Given the description of an element on the screen output the (x, y) to click on. 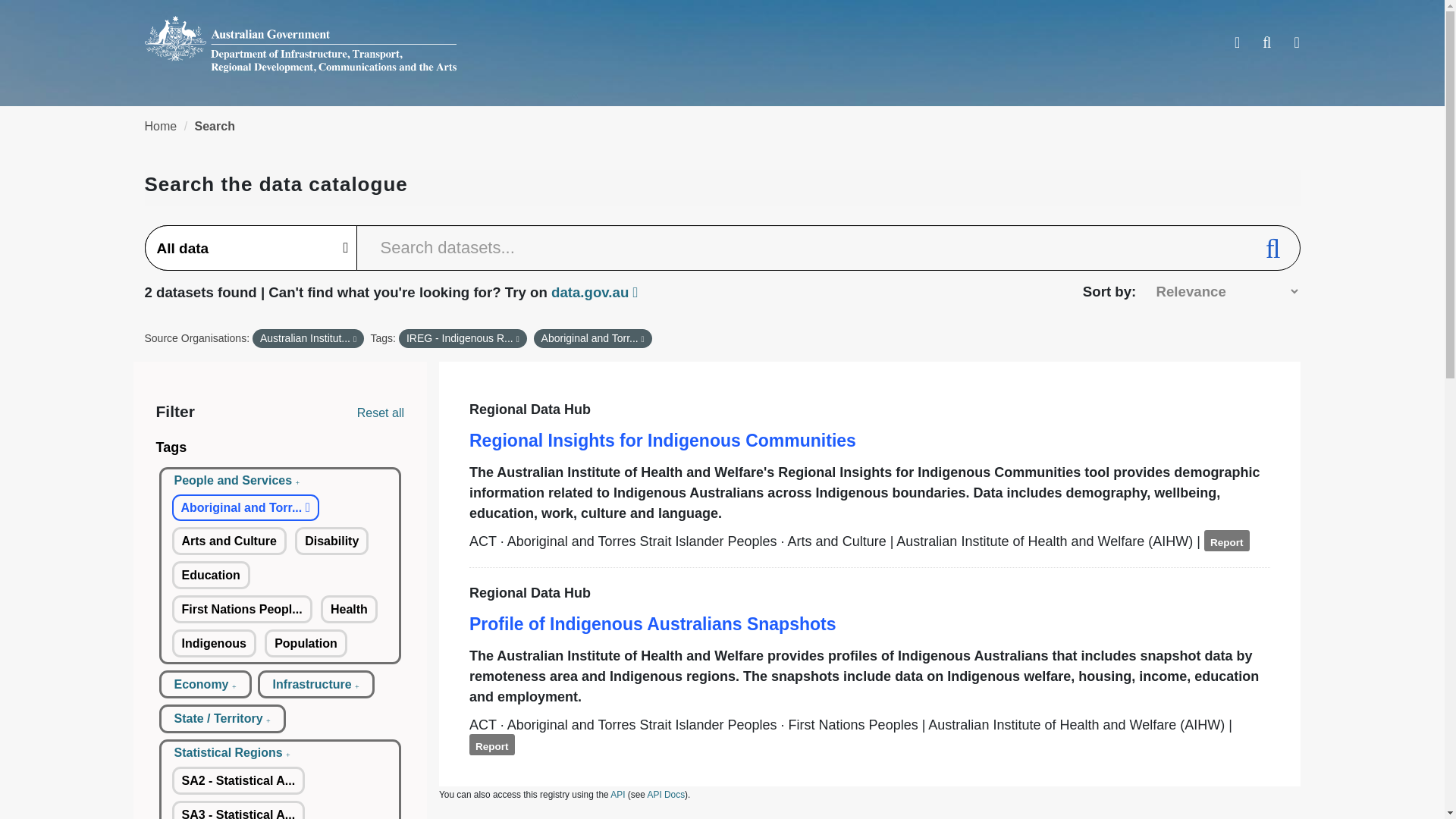
Education (209, 574)
Disability (331, 541)
First Nations Peopl... (241, 609)
Home (160, 125)
Economy (204, 684)
data.gov.au (594, 292)
Arts and Culture (228, 541)
Search (214, 125)
Reset all (380, 412)
Health (348, 609)
People and Services (236, 480)
Population (305, 643)
Infrastructure (316, 684)
Indigenous (213, 643)
Aboriginal and Torr... (244, 507)
